Given the description of an element on the screen output the (x, y) to click on. 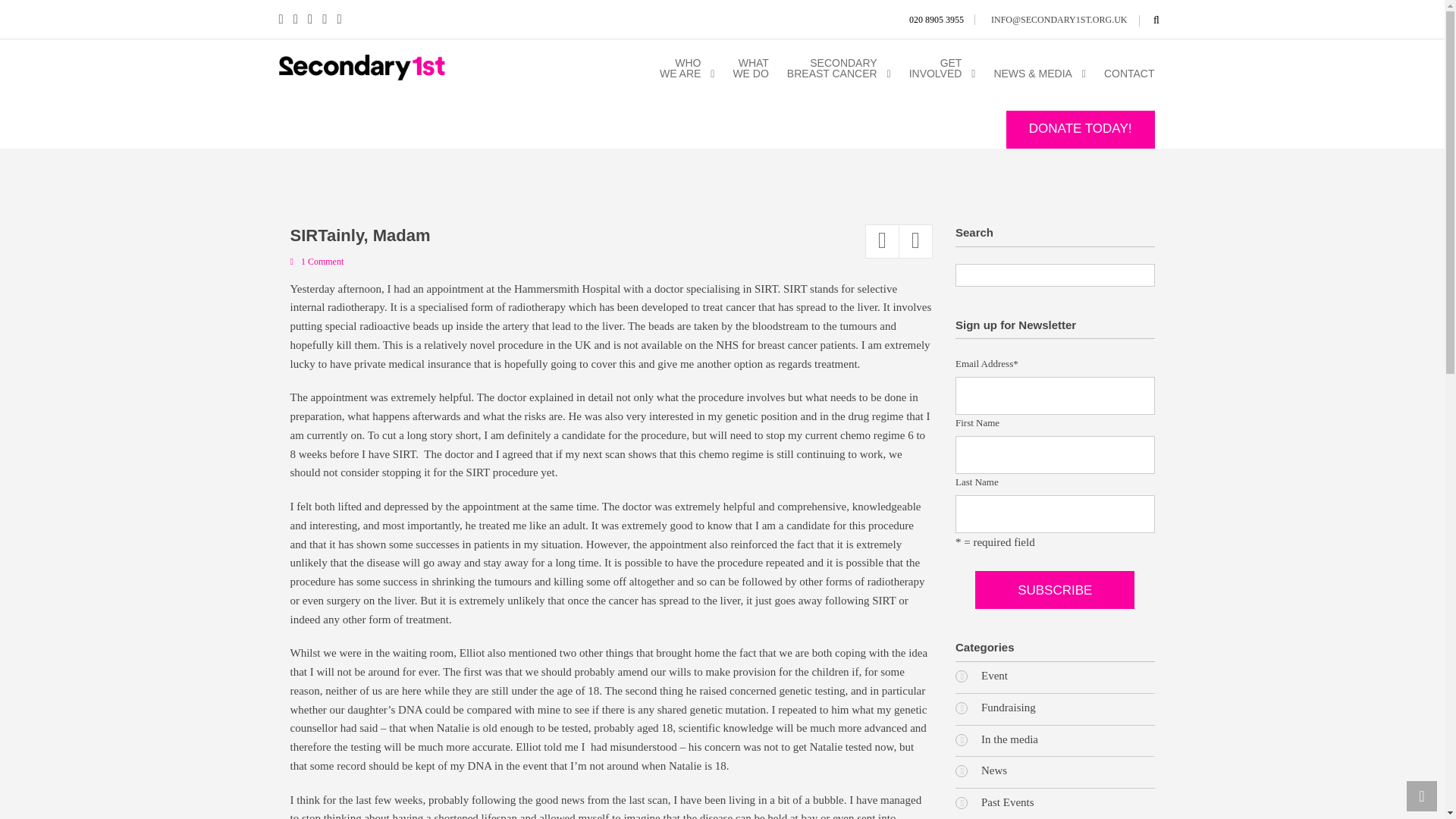
Secondary1st (362, 67)
Back to Top (1420, 794)
Subscribe (1054, 589)
Search (1156, 19)
